Given the description of an element on the screen output the (x, y) to click on. 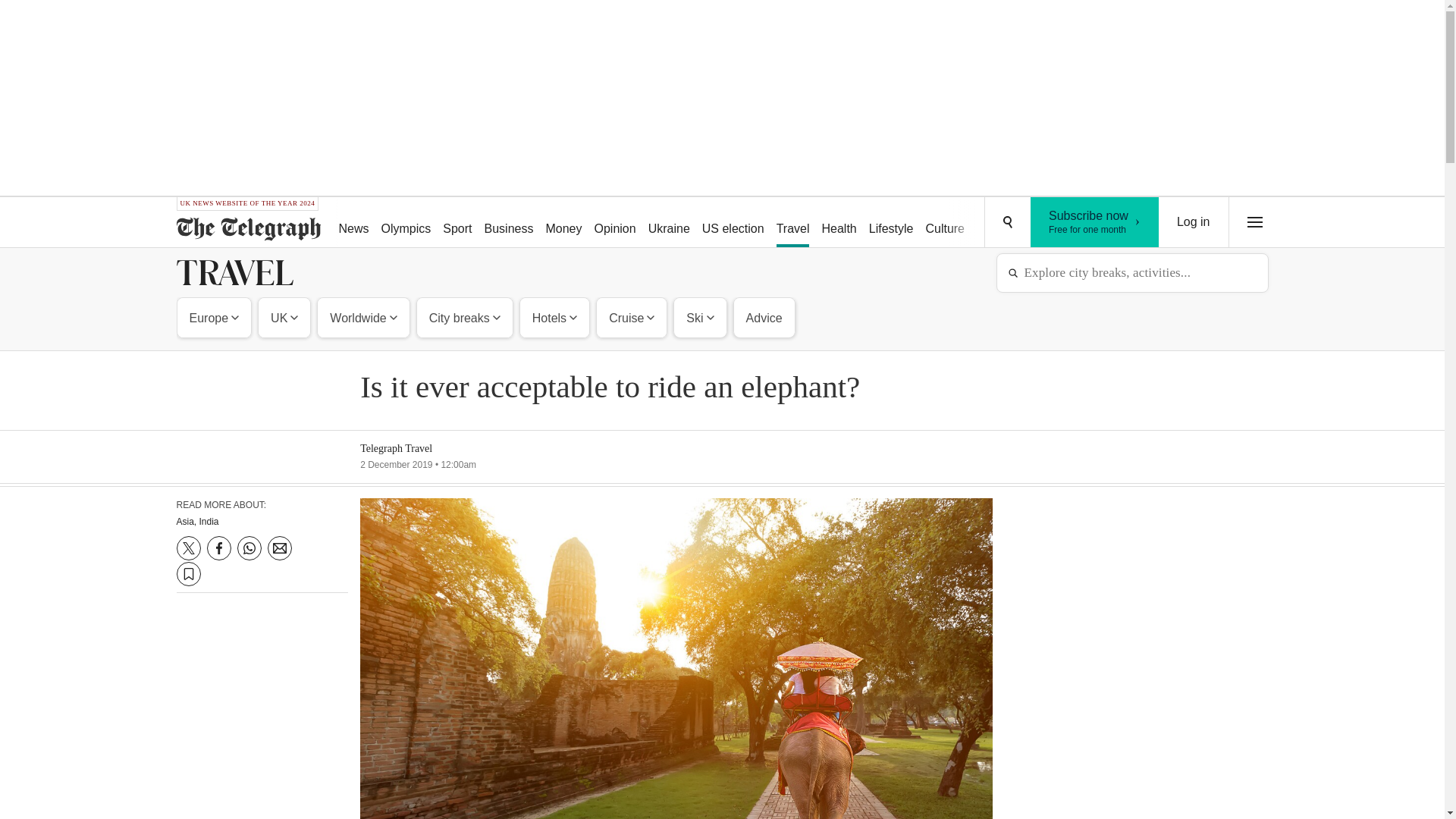
Health (838, 223)
Opinion (615, 223)
Travel (792, 223)
Worldwide (363, 317)
Business (509, 223)
Ukraine (668, 223)
Europe (214, 317)
Culture (944, 223)
Lifestyle (891, 223)
Olympics (1094, 222)
Money (406, 223)
Podcasts (563, 223)
Log in (1056, 223)
US election (1193, 222)
